Given the description of an element on the screen output the (x, y) to click on. 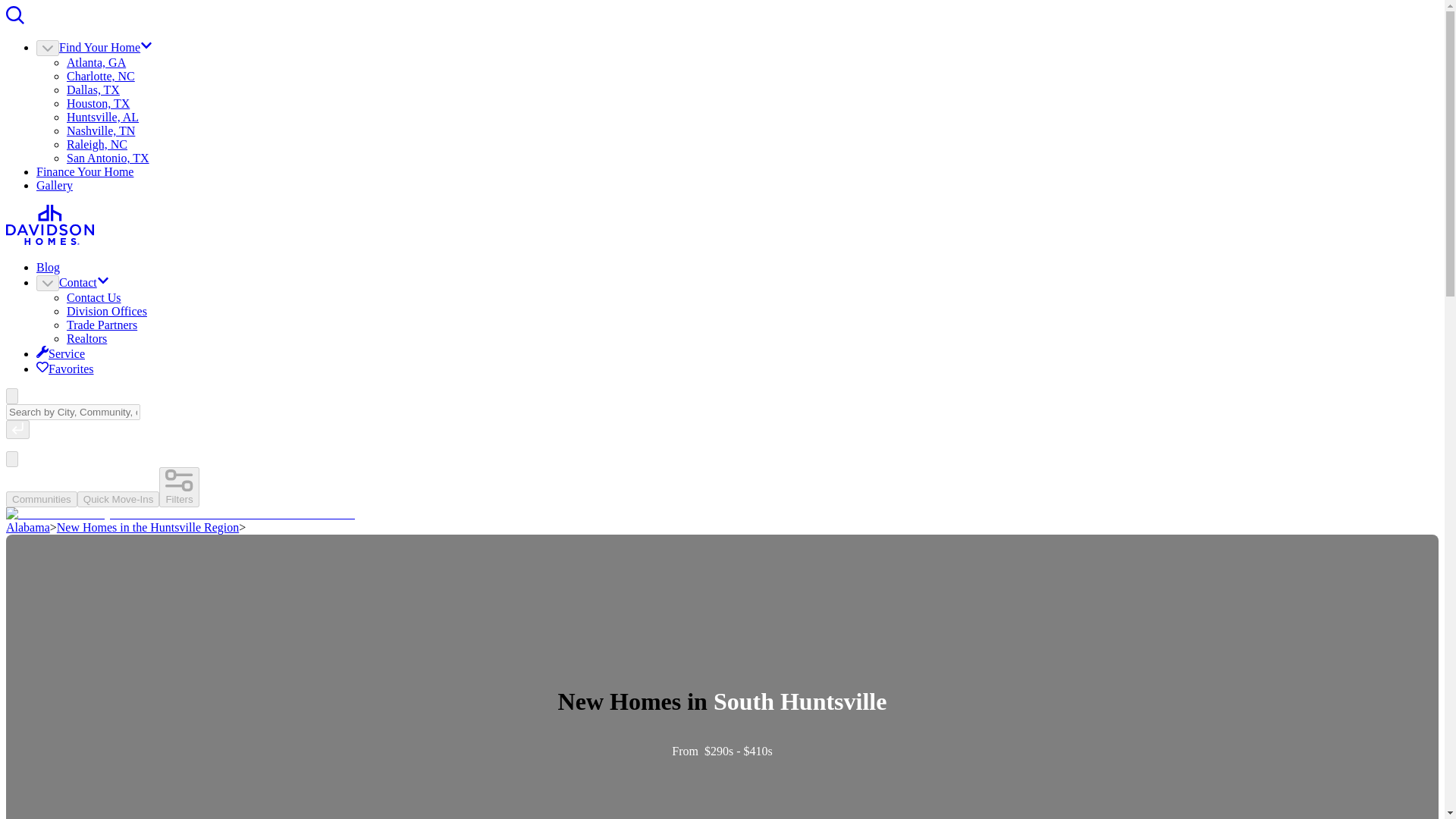
Trade Partners (101, 324)
Atlanta, GA (95, 62)
San Antonio, TX (107, 157)
Service (60, 353)
Charlotte, NC (100, 75)
Favorites (65, 368)
Contact (84, 282)
Dallas, TX (92, 89)
Raleigh, NC (97, 144)
Gallery (54, 185)
Finance Your Home (84, 171)
Contact Us (93, 297)
Filters (178, 486)
Realtors (86, 338)
Alabama (27, 526)
